Given the description of an element on the screen output the (x, y) to click on. 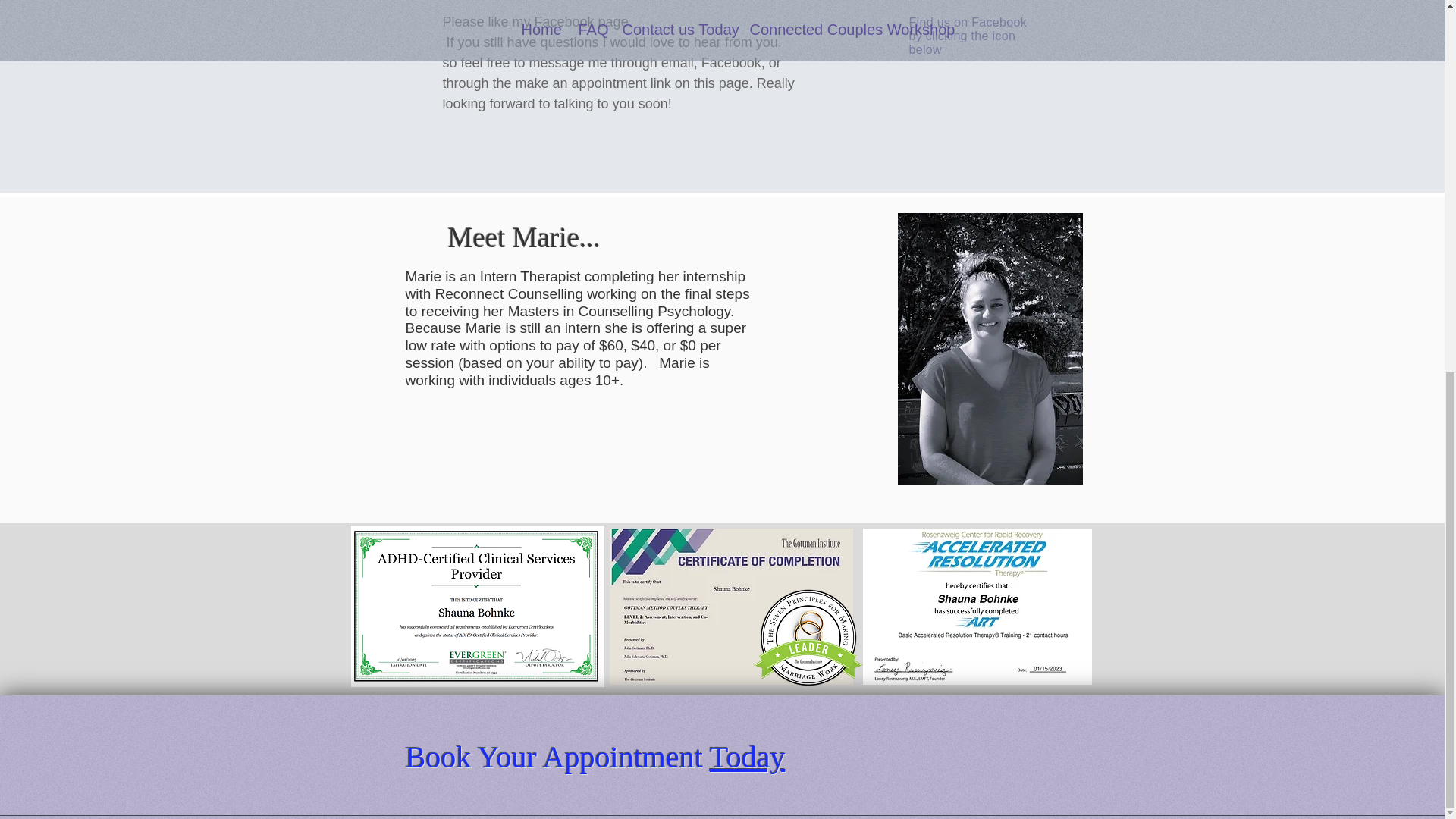
Book Your Appointment Today (594, 756)
